Given the description of an element on the screen output the (x, y) to click on. 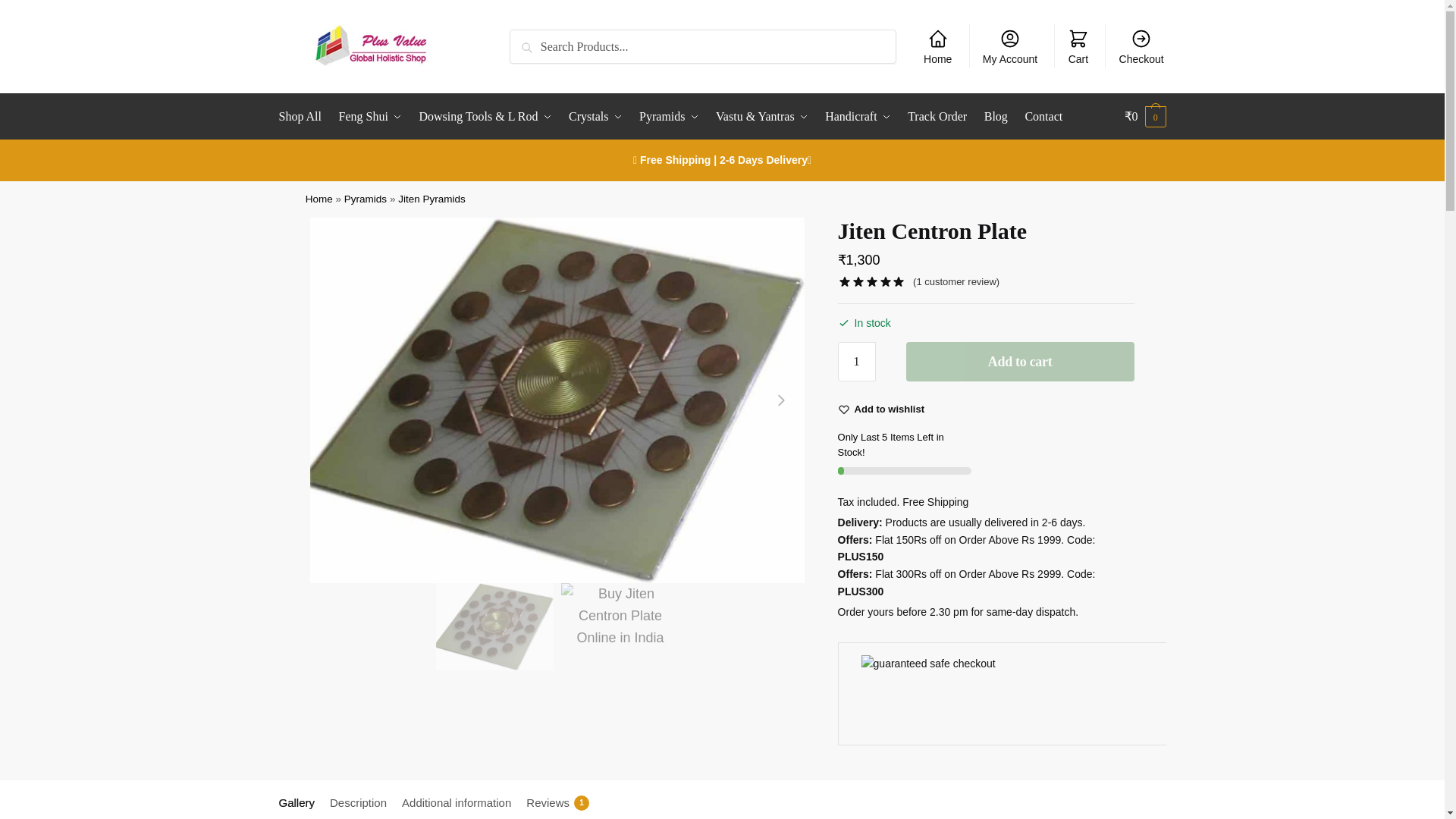
Home (937, 45)
My Account (1010, 45)
Crystals (595, 116)
Search (530, 39)
Shop All (304, 116)
View your shopping cart (1145, 116)
Buy Jiten Centron Plate Online in India 1 (494, 626)
1 (857, 360)
Pyramids (667, 116)
Buy Jiten Centron Plate Online in India 2 (619, 636)
Wishlist (889, 409)
Checkout (1141, 45)
Feng Shui (370, 116)
